Given the description of an element on the screen output the (x, y) to click on. 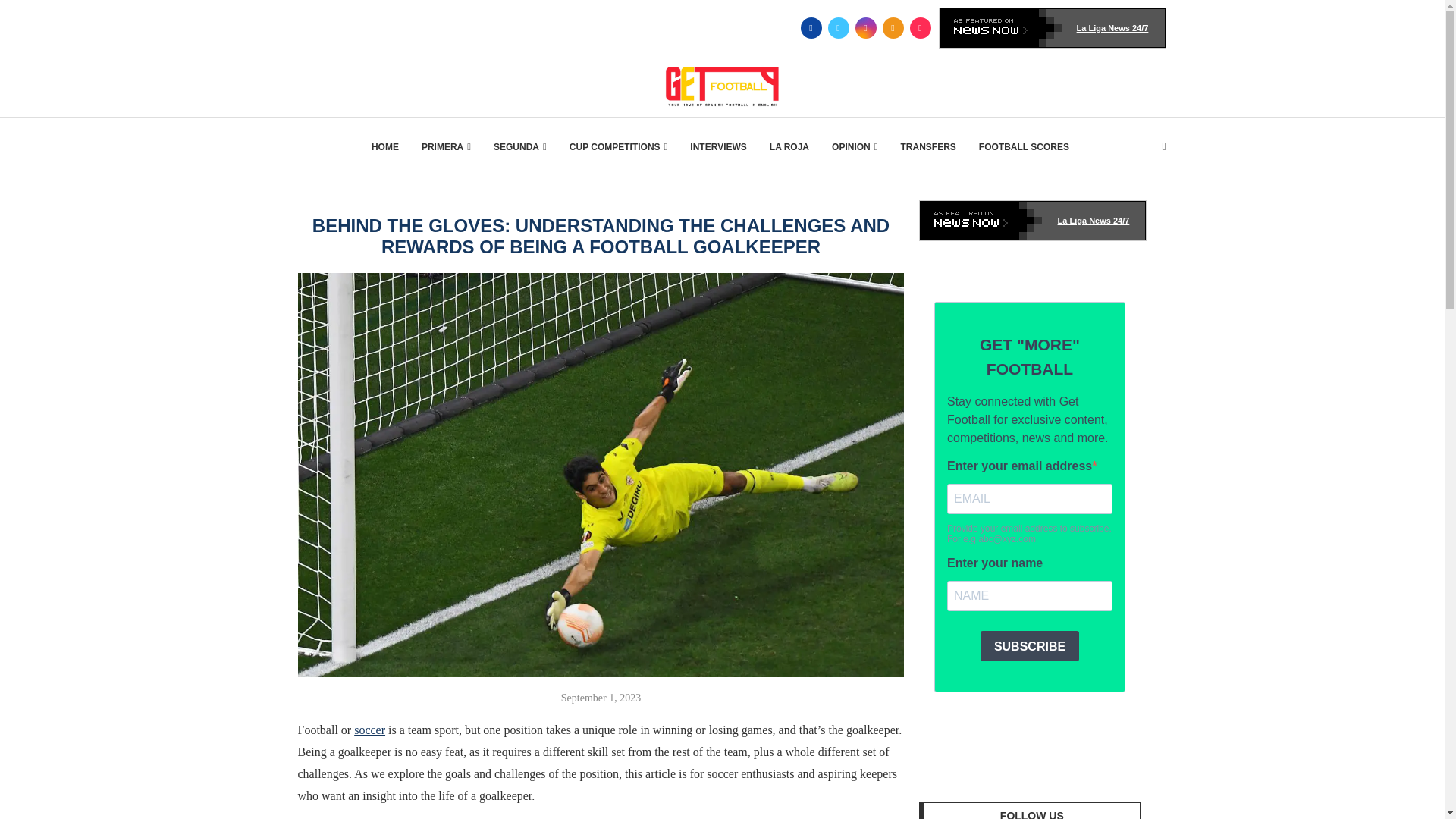
Click here for more La Liga news from NewsNow (1052, 27)
PRIMERA (446, 146)
SEGUNDA (520, 146)
Click here for more La Liga news from NewsNow (1032, 219)
